Given the description of an element on the screen output the (x, y) to click on. 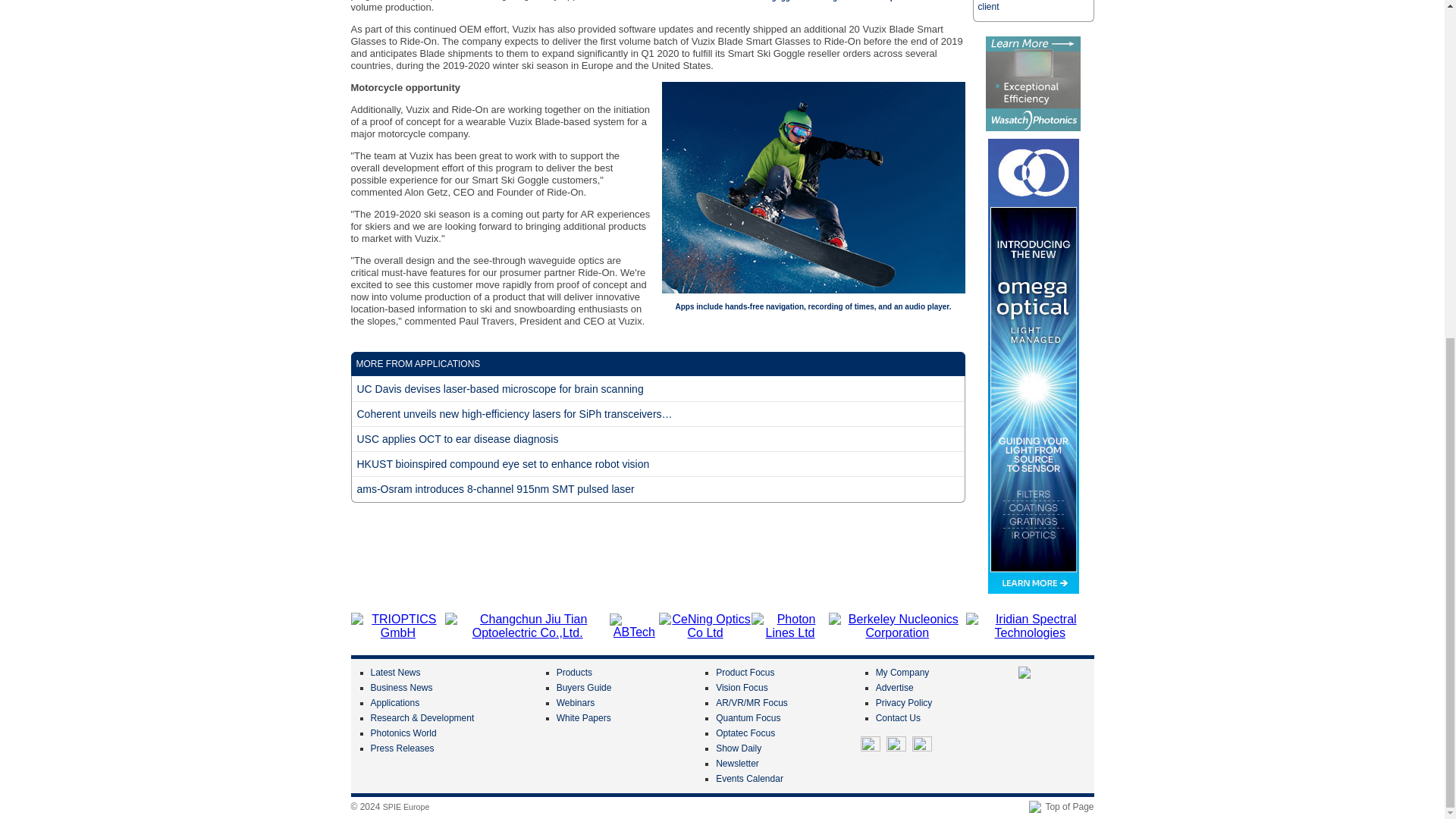
RSS Feeds (921, 745)
LinkedIn (895, 745)
Twitter (870, 745)
